Given the description of an element on the screen output the (x, y) to click on. 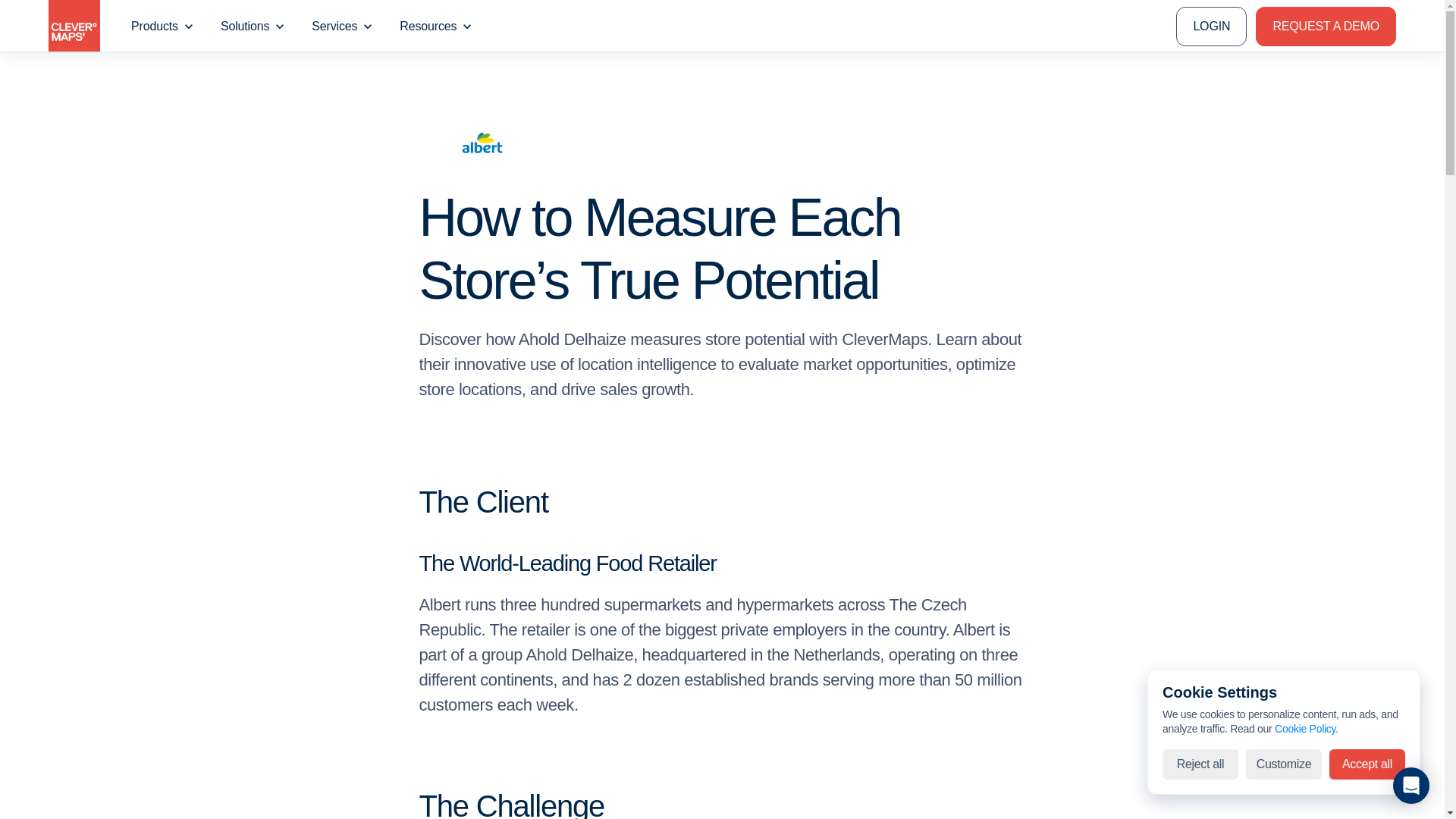
Accept all (1367, 764)
Customize (1284, 764)
LOGIN (1211, 25)
REQUEST A DEMO (1325, 25)
Reject all (1200, 764)
